Given the description of an element on the screen output the (x, y) to click on. 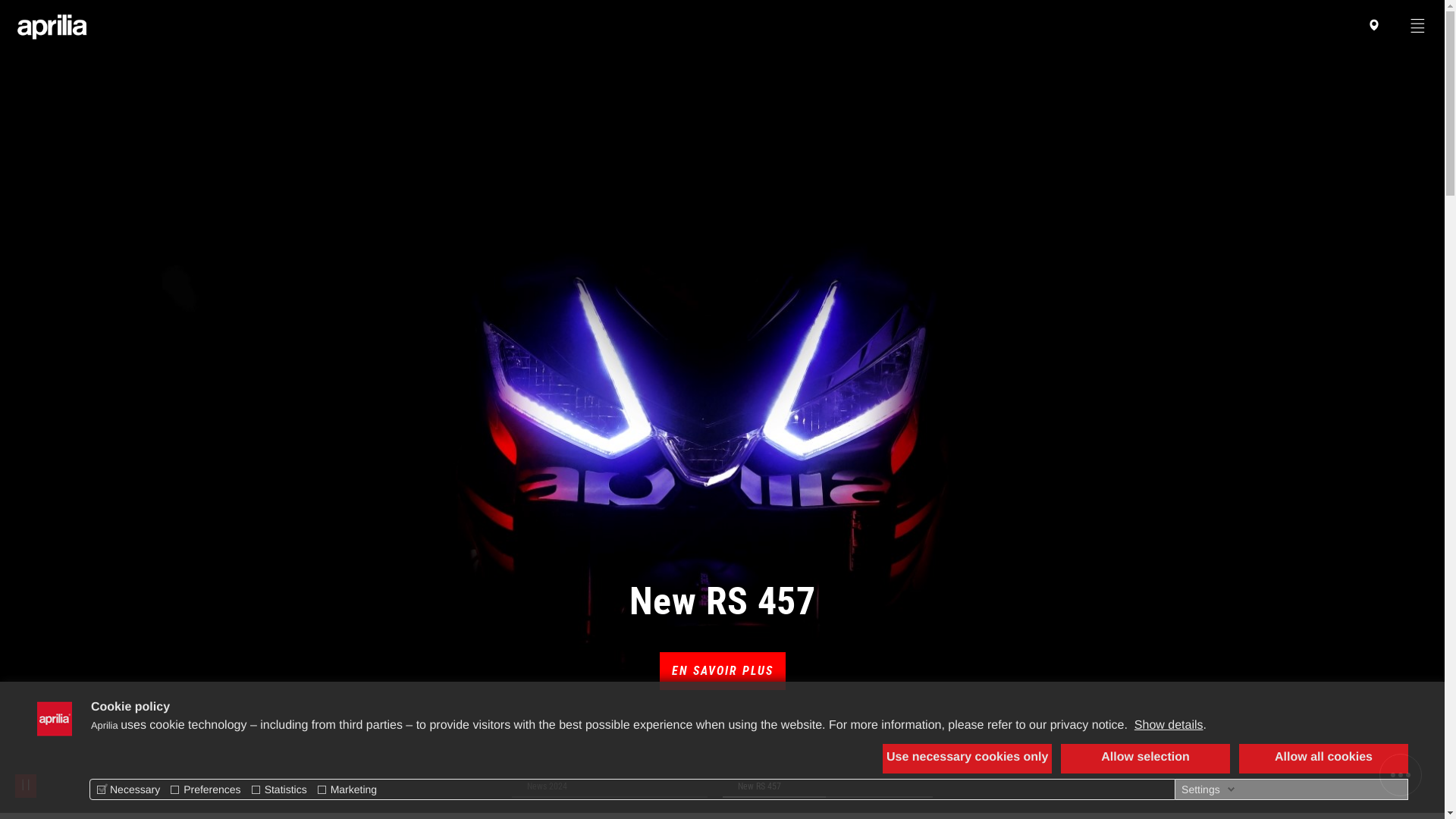
Settings Element type: text (1208, 789)
Allow selection Element type: text (1145, 758)
Allow all cookies Element type: text (1323, 758)
EN SAVOIR PLUS Element type: text (722, 671)
New RS 457 Element type: text (826, 787)
Use necessary cookies only Element type: text (966, 758)
Show details Element type: text (1168, 724)
News 2024 Element type: text (609, 787)
